Given the description of an element on the screen output the (x, y) to click on. 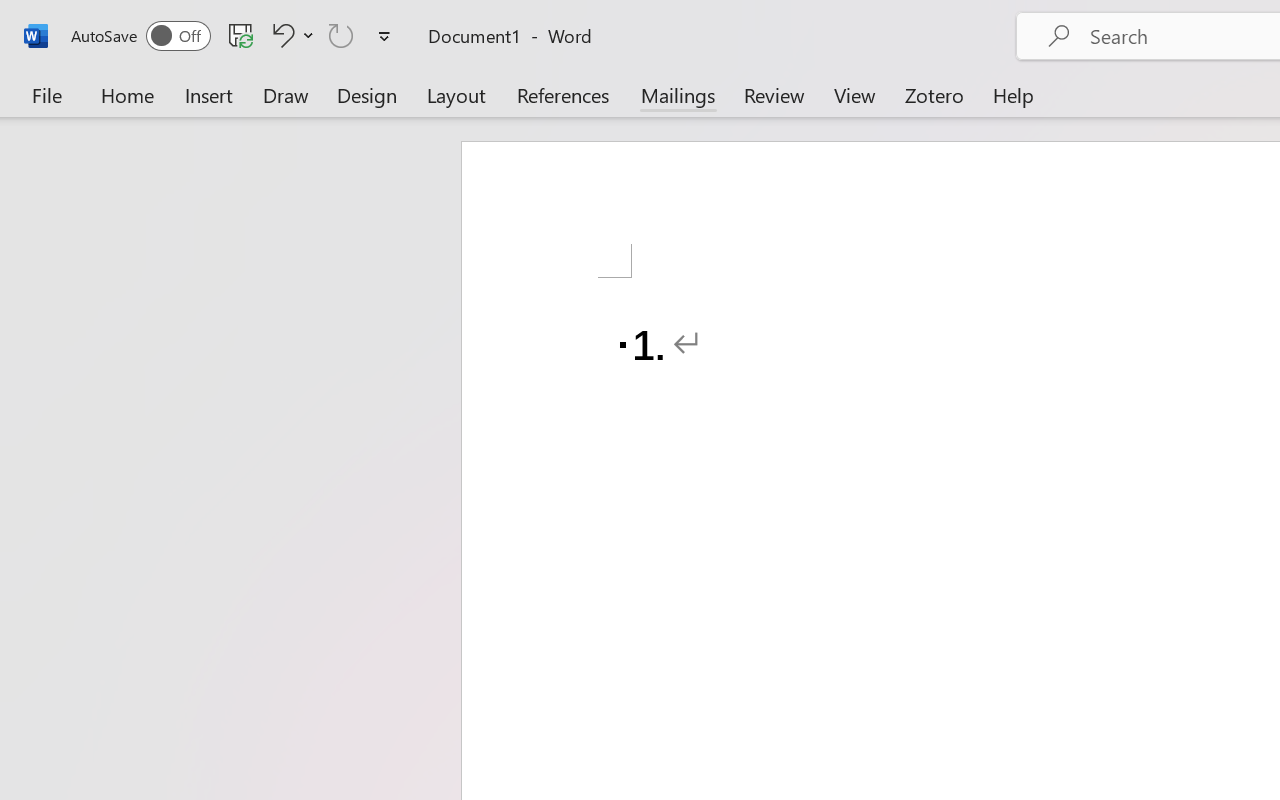
Undo Number Default (280, 35)
Repeat Doc Close (341, 35)
